Given the description of an element on the screen output the (x, y) to click on. 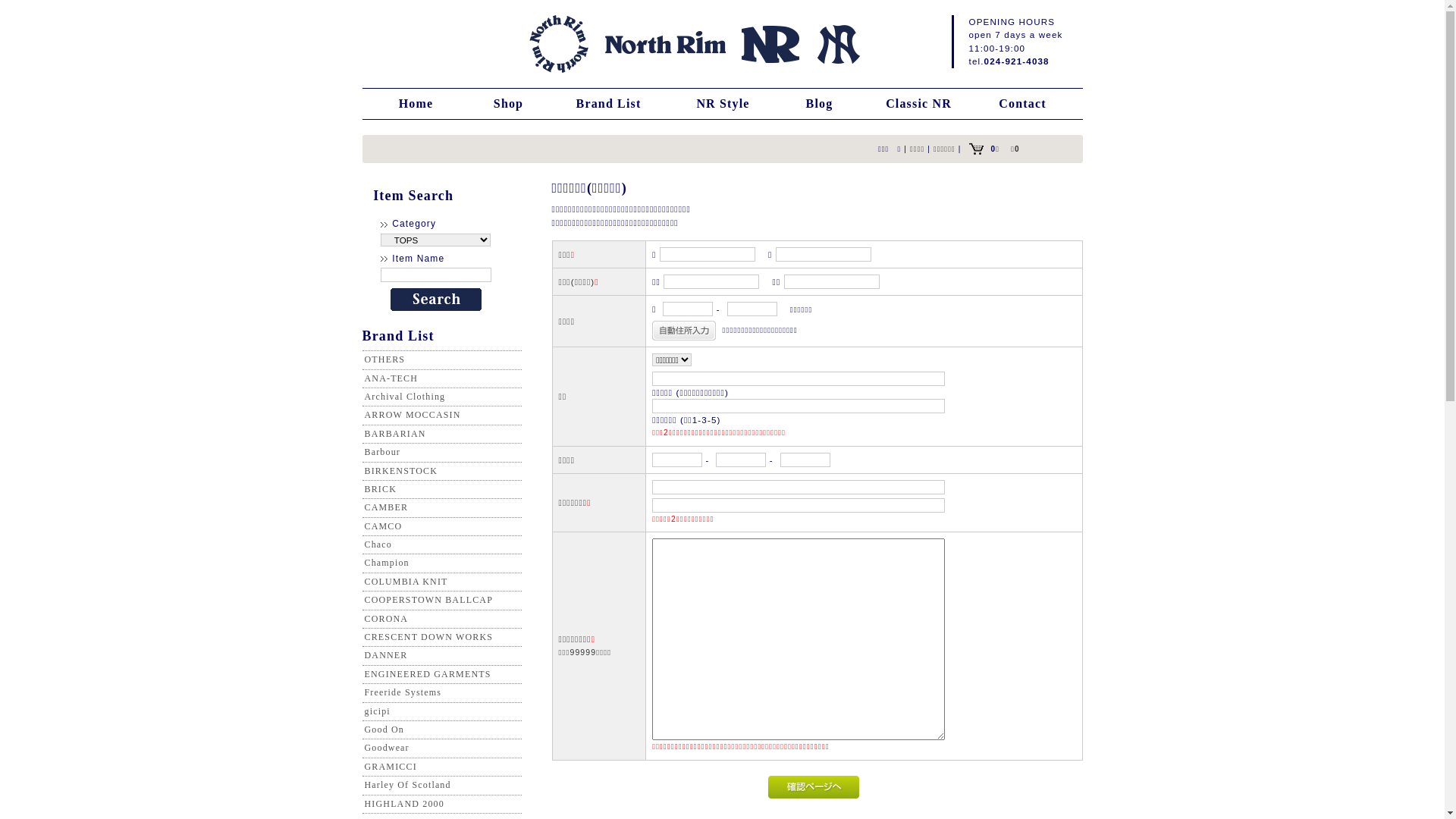
Blog Element type: text (819, 103)
Brand List Element type: text (608, 103)
OTHERS Element type: text (384, 359)
CAMCO Element type: text (382, 525)
BIRKENSTOCK Element type: text (400, 470)
Champion Element type: text (386, 562)
Classic NR Element type: text (918, 103)
Home Element type: text (416, 103)
Barbour Element type: text (381, 451)
Archival Clothing Element type: text (404, 396)
Freeride Systems Element type: text (402, 692)
NR Style Element type: text (722, 103)
Chaco Element type: text (377, 544)
COOPERSTOWN BALLCAP Element type: text (428, 599)
DANNER Element type: text (385, 654)
Goodwear Element type: text (386, 747)
Good On Element type: text (383, 729)
GRAMICCI Element type: text (390, 766)
HIGHLAND 2000 Element type: text (403, 803)
ANA-TECH Element type: text (390, 378)
Contact Element type: text (1022, 103)
gicipi Element type: text (376, 711)
COLUMBIA KNIT Element type: text (405, 581)
Shop Element type: text (508, 103)
BRICK Element type: text (379, 488)
BARBARIAN Element type: text (394, 433)
ENGINEERED GARMENTS Element type: text (427, 673)
CORONA Element type: text (385, 618)
CRESCENT DOWN WORKS Element type: text (428, 636)
CAMBER Element type: text (385, 507)
ARROW MOCCASIN Element type: text (412, 414)
Harley Of Scotland Element type: text (407, 784)
